Given the description of an element on the screen output the (x, y) to click on. 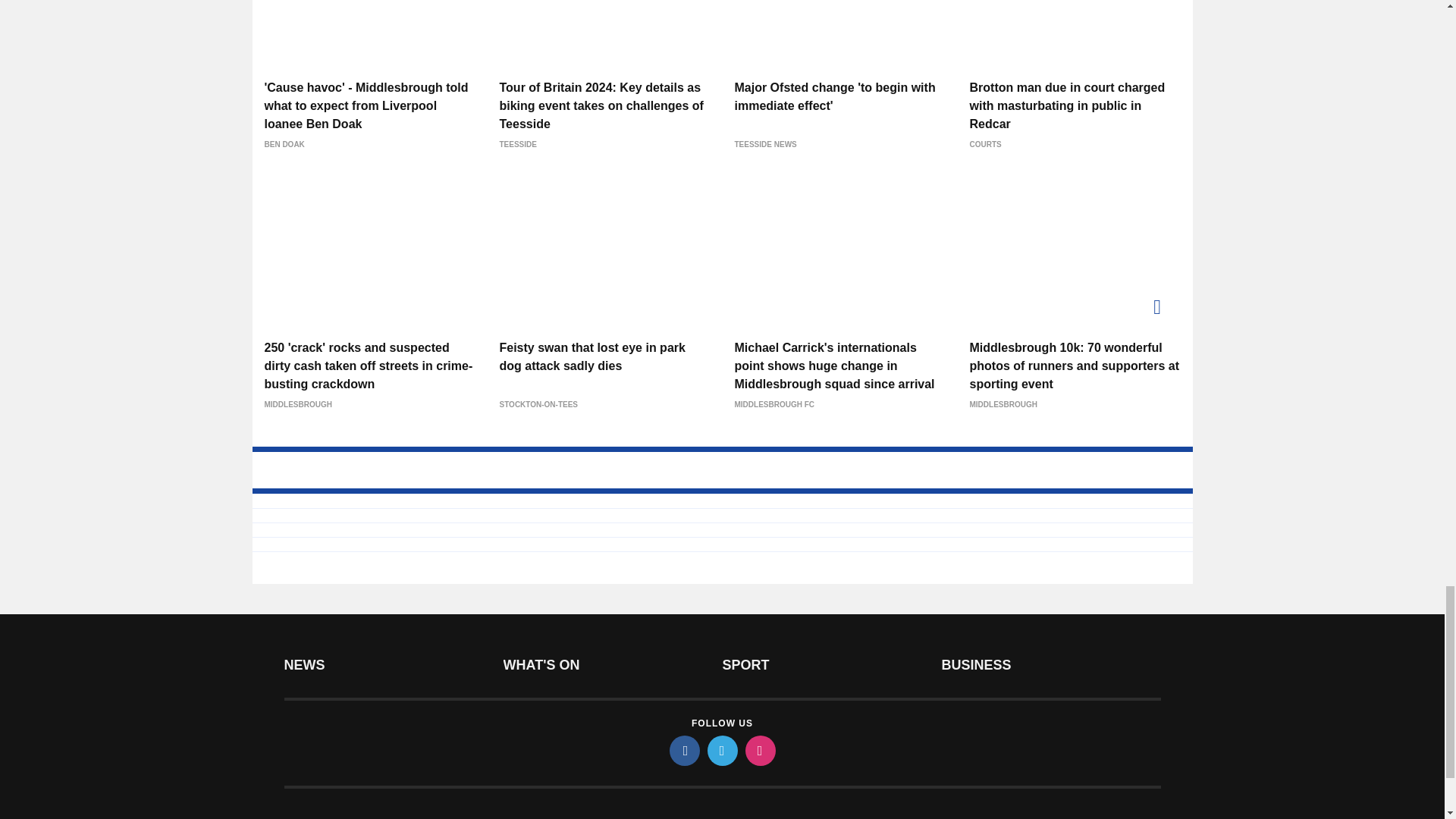
twitter (721, 750)
instagram (759, 750)
facebook (683, 750)
